Given the description of an element on the screen output the (x, y) to click on. 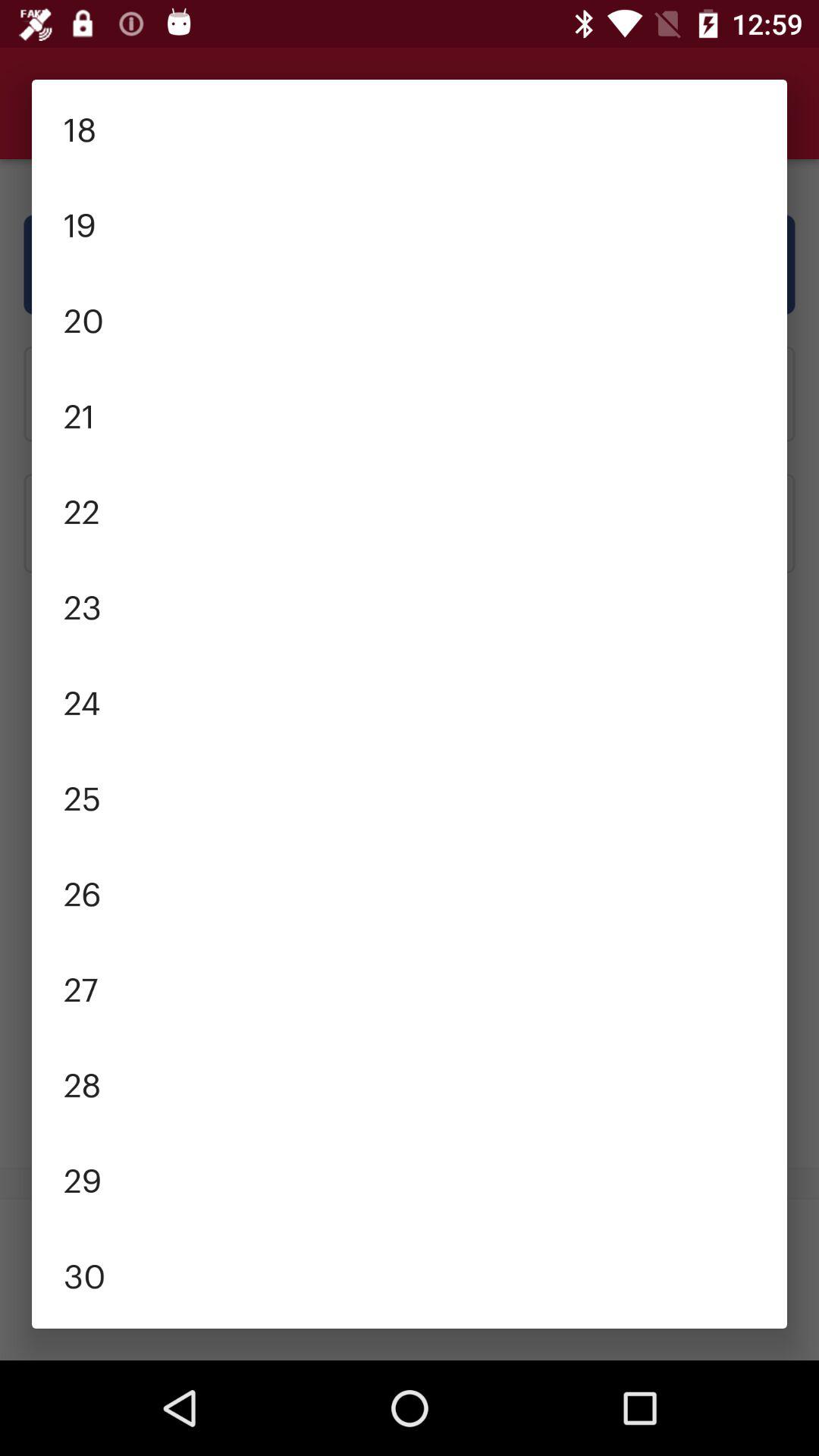
swipe until 26 (409, 891)
